Given the description of an element on the screen output the (x, y) to click on. 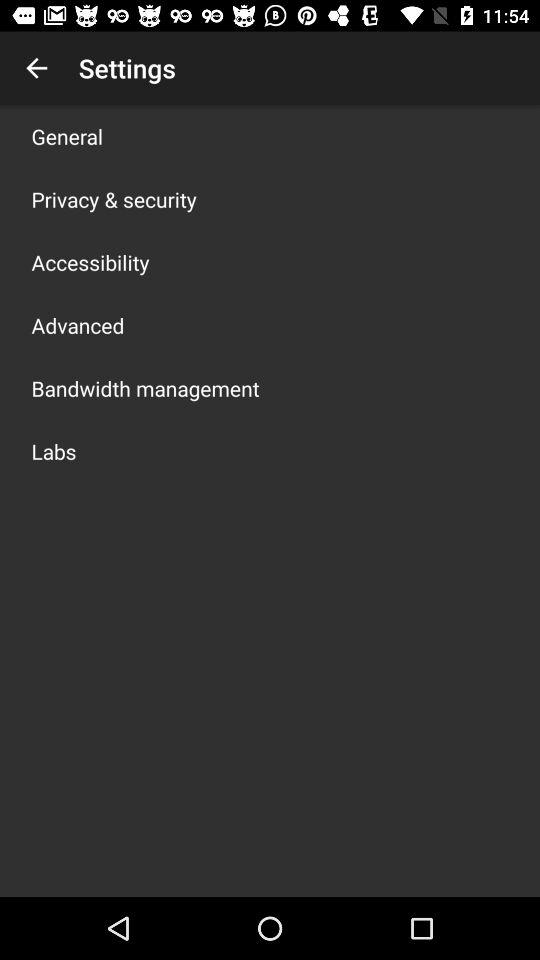
turn on the app next to the settings app (36, 68)
